Given the description of an element on the screen output the (x, y) to click on. 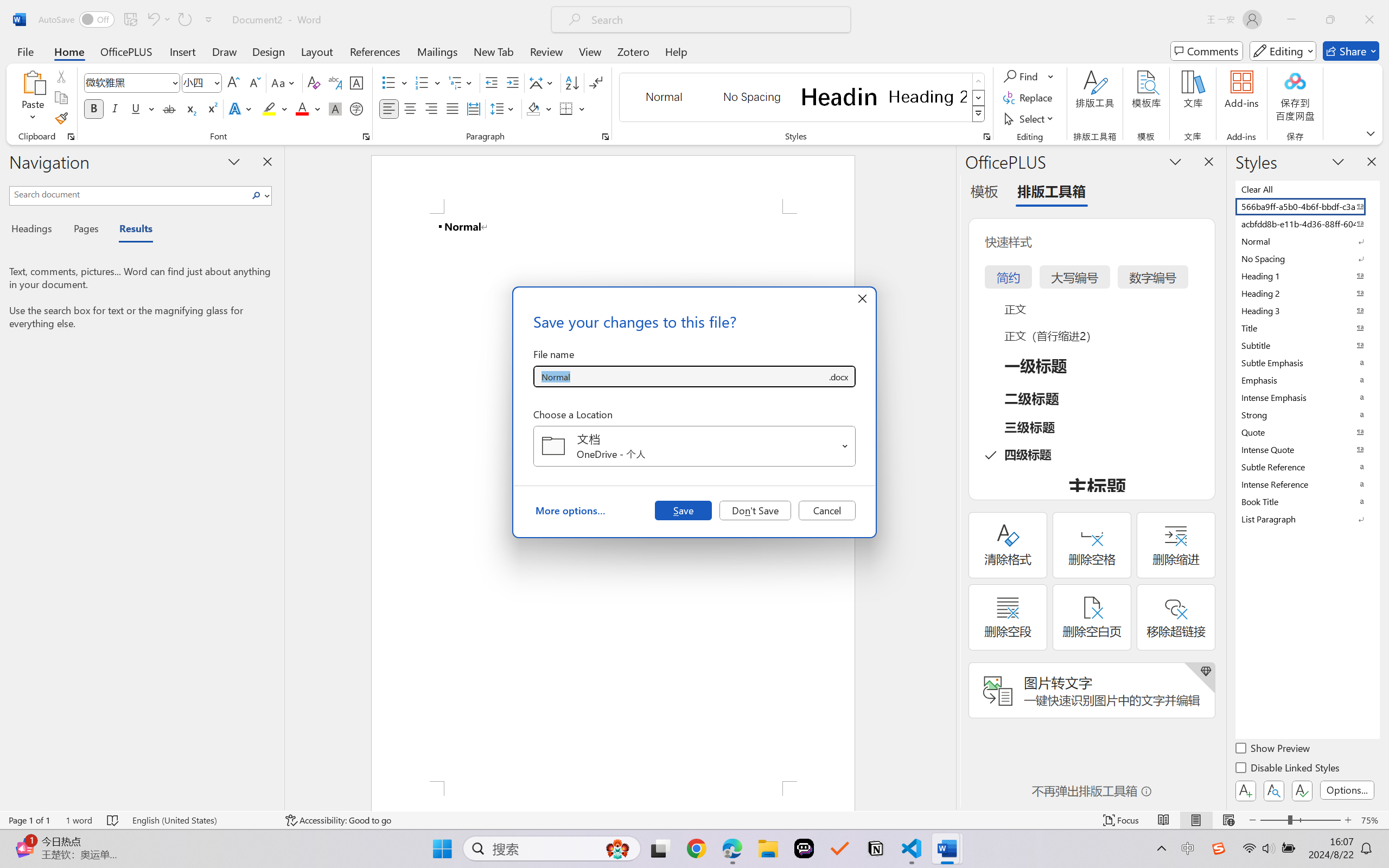
Show Preview (1273, 749)
Decrease Indent (491, 82)
Mode (1283, 50)
Customize Quick Access Toolbar (208, 19)
Heading 1 (839, 96)
Read Mode (1163, 819)
Print Layout (1196, 819)
Font (132, 82)
Draw (224, 51)
Quick Access Toolbar (127, 19)
Close (1369, 19)
Undo Text Fill Effect (152, 19)
